Given the description of an element on the screen output the (x, y) to click on. 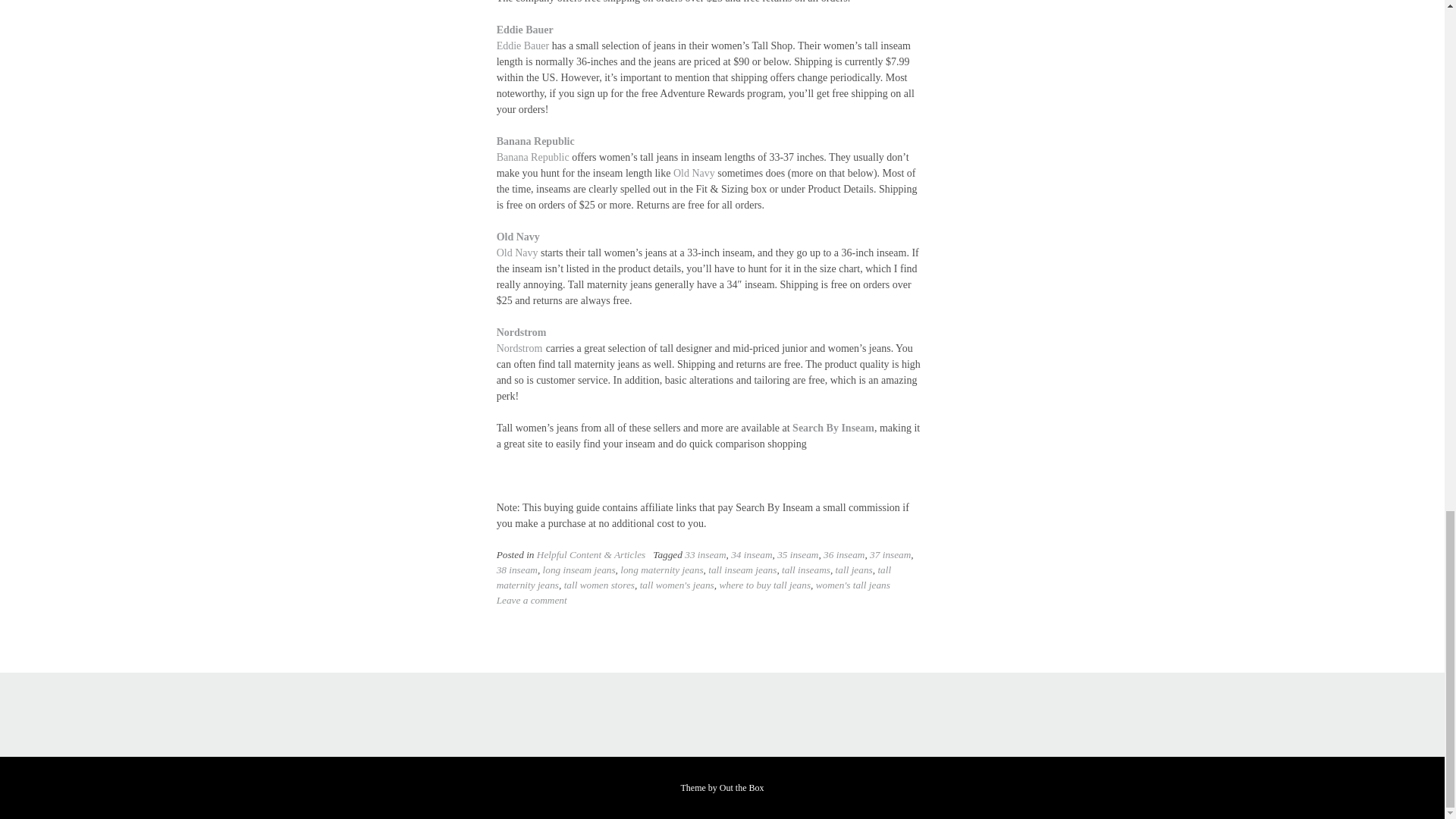
Old Navy (518, 236)
Banana Republic (532, 156)
Nordstrom (521, 332)
Old Navy (693, 173)
Search By Inseam (833, 428)
Banana Republic (535, 141)
Old Navy (517, 252)
Eddie Bauer (523, 45)
Nordstrom (519, 348)
Eddie Bauer (524, 30)
33 inseam (704, 554)
34 inseam (750, 554)
